Given the description of an element on the screen output the (x, y) to click on. 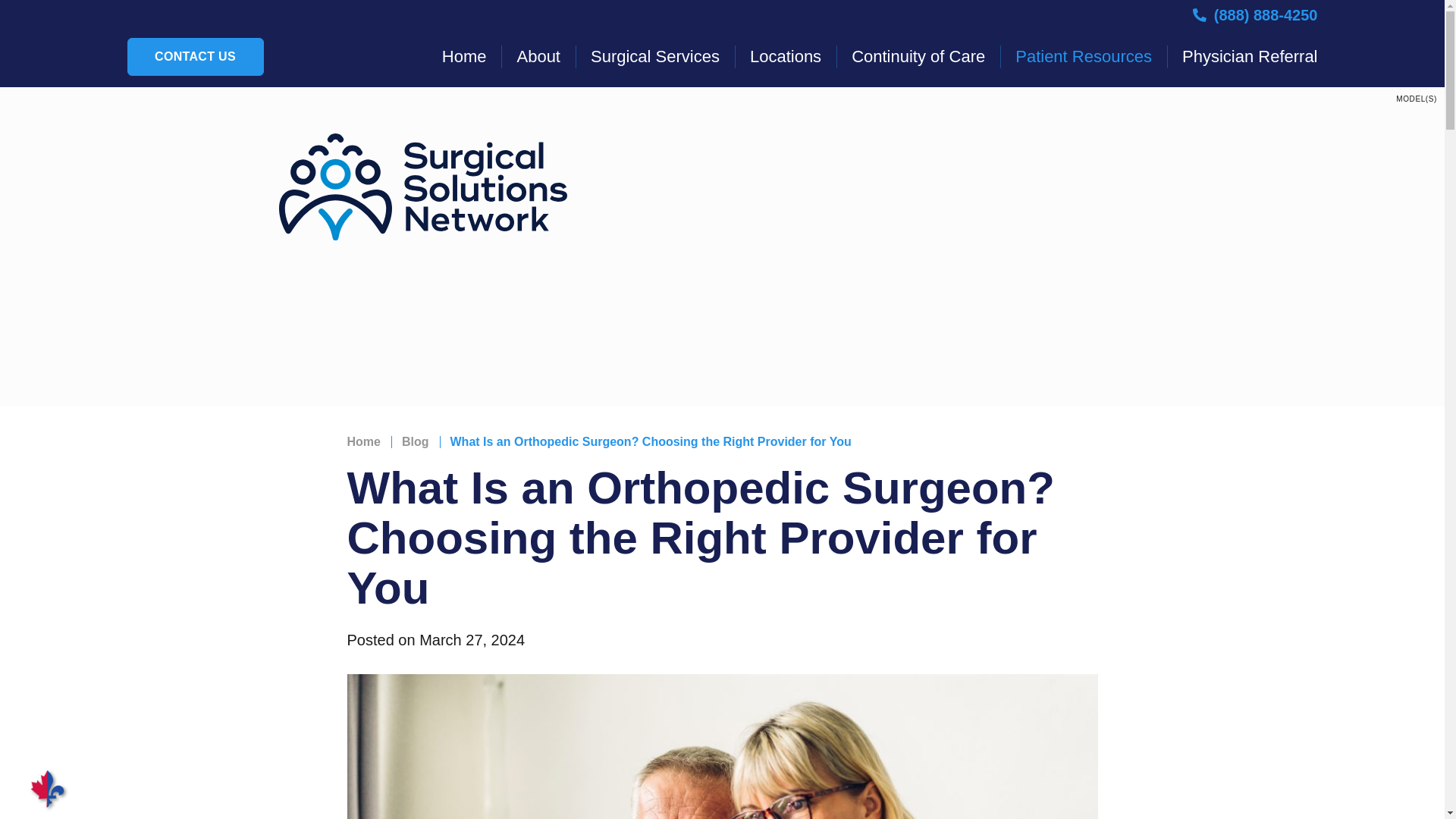
About (537, 56)
Home (472, 56)
CONTACT US (195, 56)
Surgical Services (655, 56)
